Given the description of an element on the screen output the (x, y) to click on. 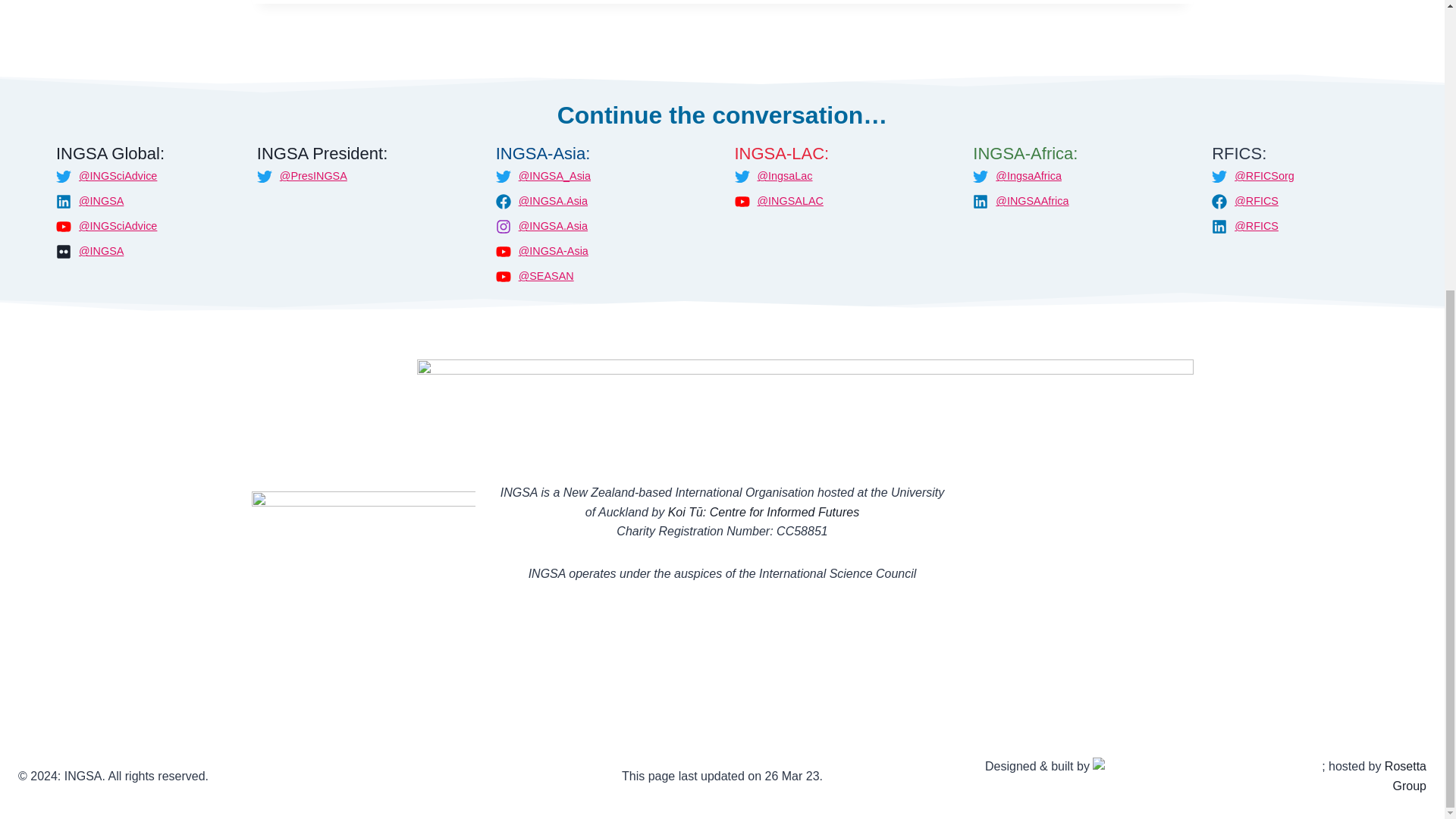
Rosetta Group (1405, 776)
